Given the description of an element on the screen output the (x, y) to click on. 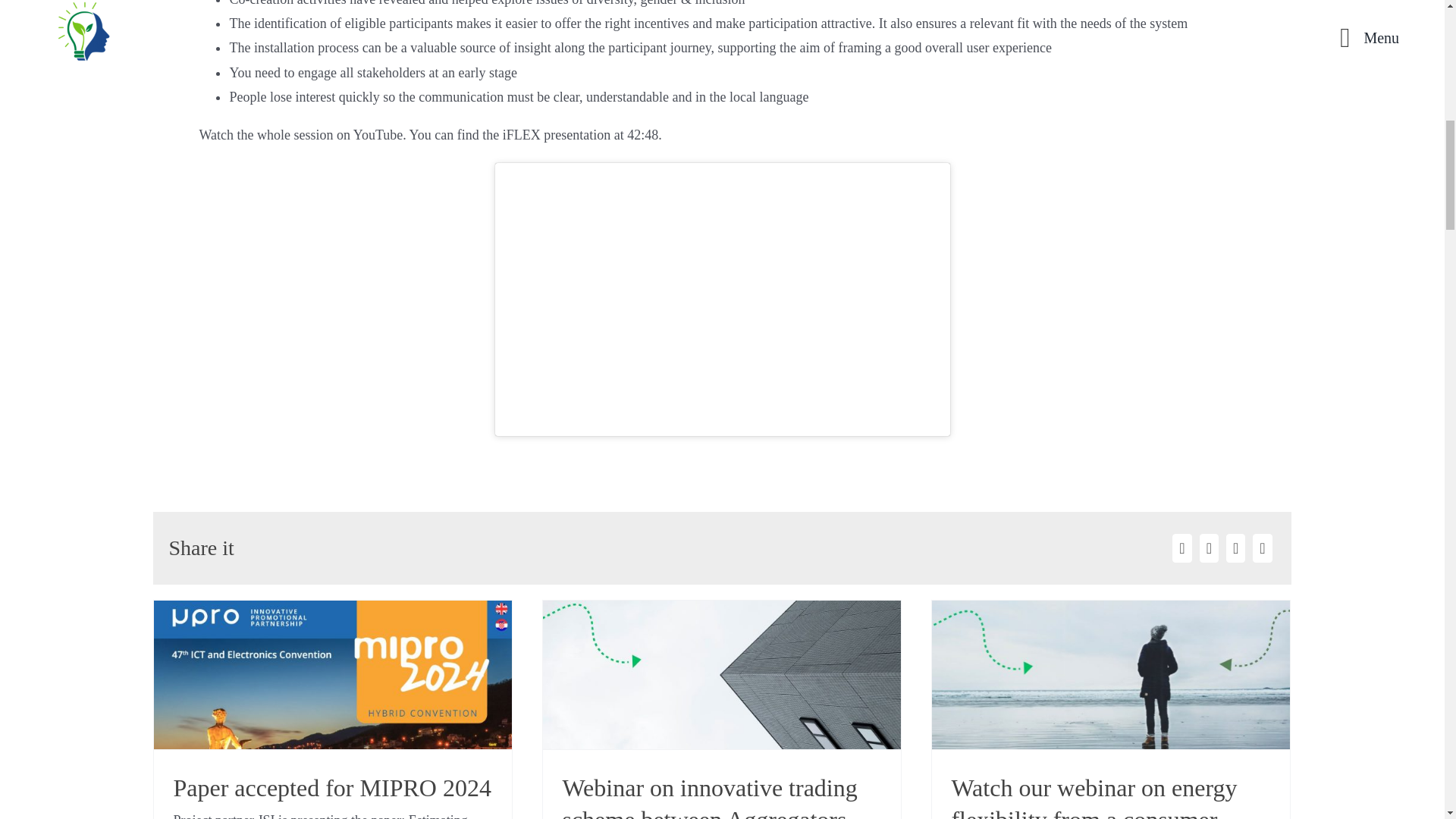
Paper accepted for MIPRO 2024 (331, 787)
